Given the description of an element on the screen output the (x, y) to click on. 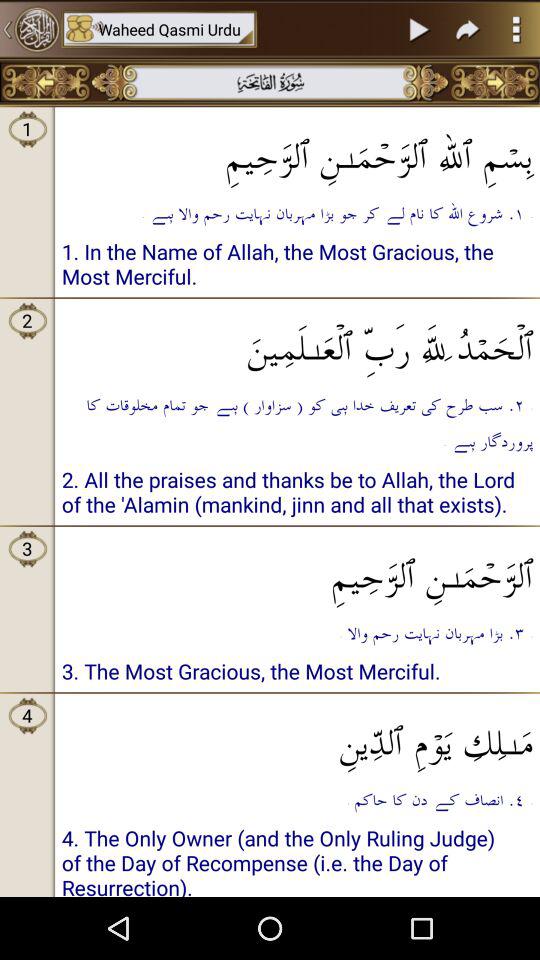
next page (494, 82)
